Given the description of an element on the screen output the (x, y) to click on. 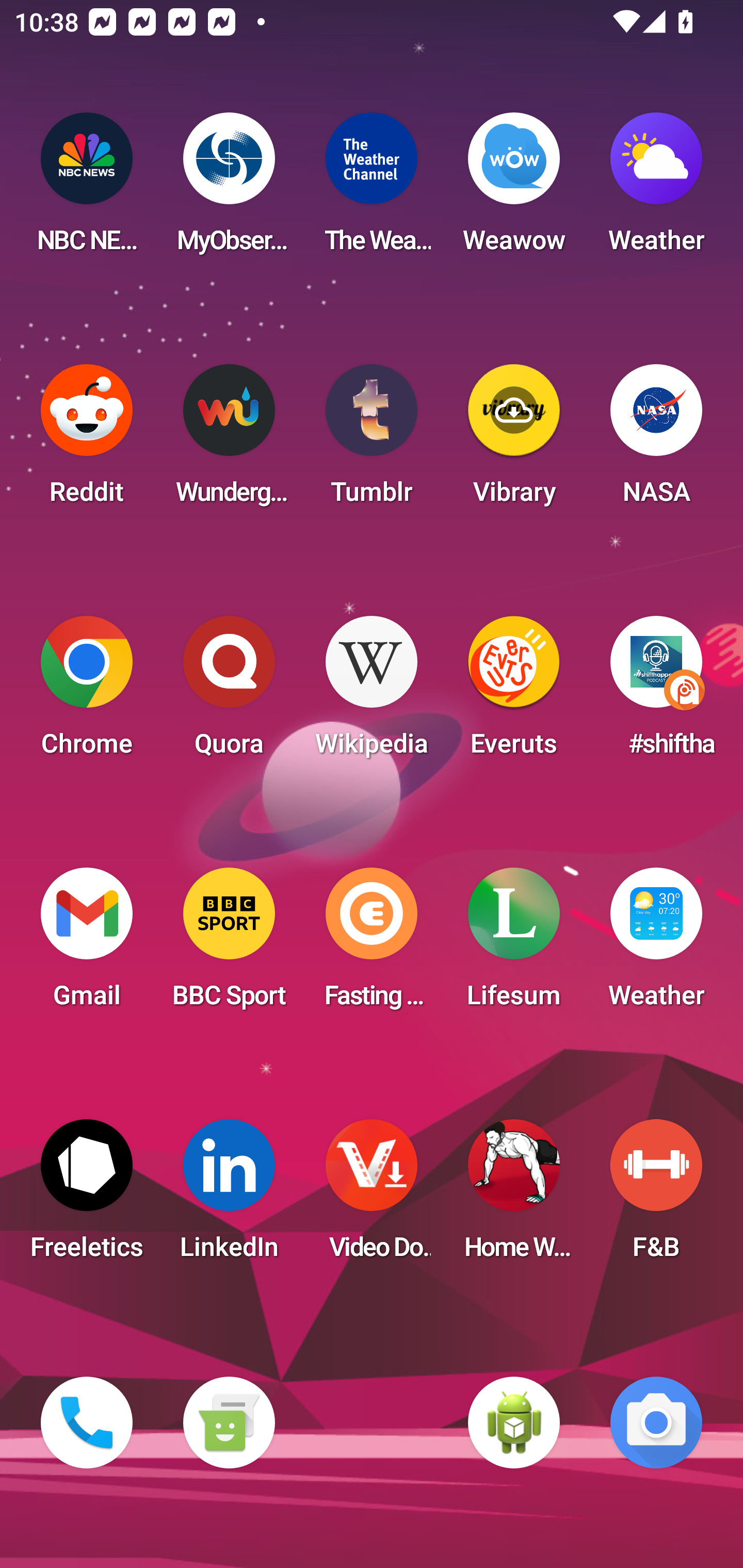
NBC NEWS (86, 188)
MyObservatory (228, 188)
The Weather Channel (371, 188)
Weawow (513, 188)
Weather (656, 188)
Reddit (86, 440)
Wunderground (228, 440)
Tumblr (371, 440)
Vibrary (513, 440)
NASA (656, 440)
Chrome (86, 692)
Quora (228, 692)
Wikipedia (371, 692)
Everuts (513, 692)
#shifthappens in the Digital Workplace Podcast (656, 692)
Gmail (86, 943)
BBC Sport (228, 943)
Fasting Coach (371, 943)
Lifesum (513, 943)
Weather (656, 943)
Freeletics (86, 1195)
LinkedIn (228, 1195)
Video Downloader & Ace Player (371, 1195)
Home Workout (513, 1195)
F&B (656, 1195)
Phone (86, 1422)
Messaging (228, 1422)
WebView Browser Tester (513, 1422)
Camera (656, 1422)
